Given the description of an element on the screen output the (x, y) to click on. 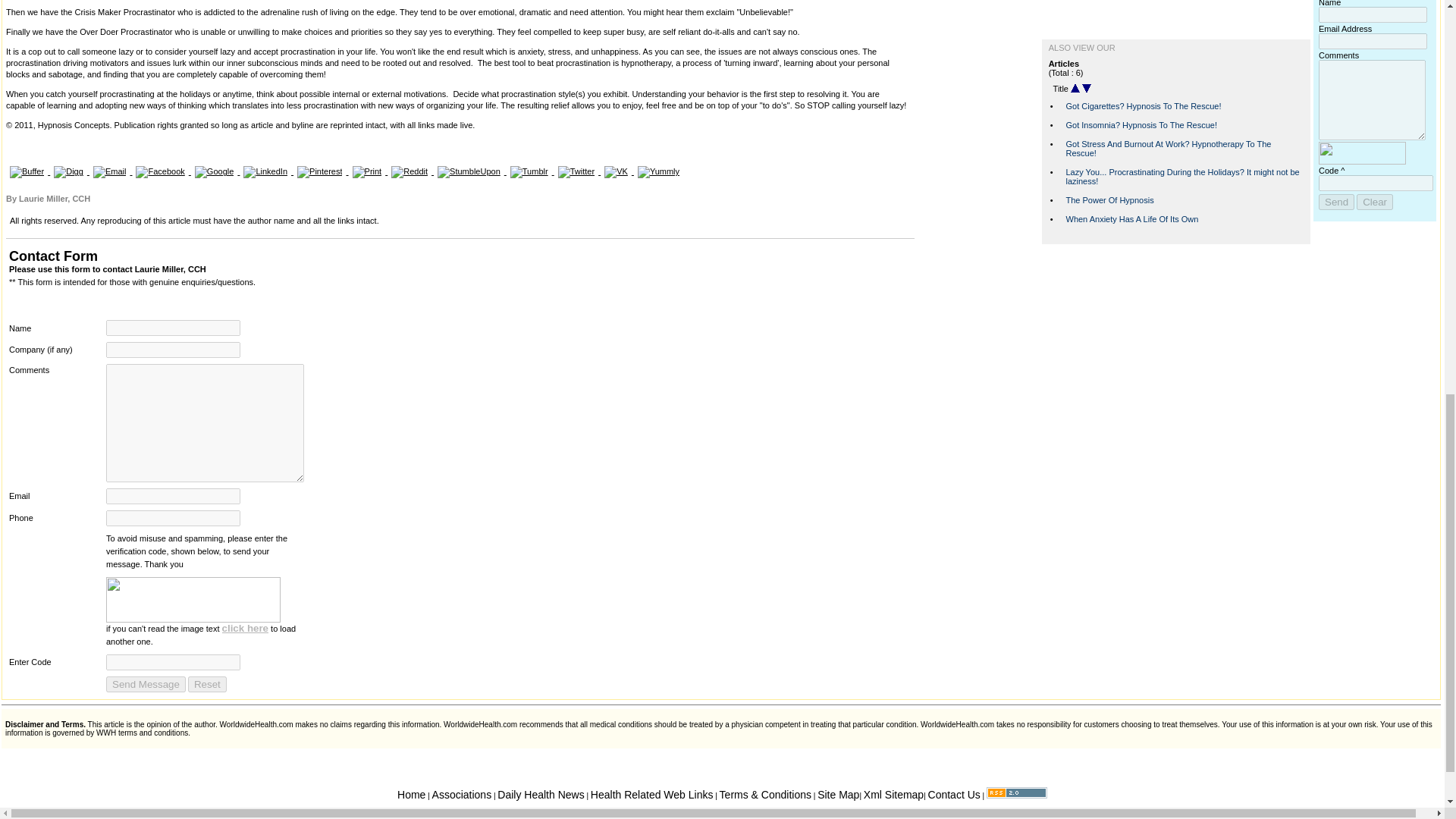
Send Message (146, 684)
Got Stress And Burnout At Work? Hypnotherapy To The Rescue! (1168, 148)
Reset (207, 684)
Send (1336, 201)
Got Cigarettes? Hypnosis To The Rescue! (1143, 105)
When Anxiety Has A Life Of Its Own (1131, 218)
click here (245, 627)
Sort by Title A-Z (1075, 88)
Sort by Title Z-A (1085, 88)
Got Insomnia? Hypnosis To The Rescue! (1141, 124)
Clear (1374, 201)
click here (245, 627)
The Power Of Hypnosis (1109, 199)
Send (1336, 201)
